Given the description of an element on the screen output the (x, y) to click on. 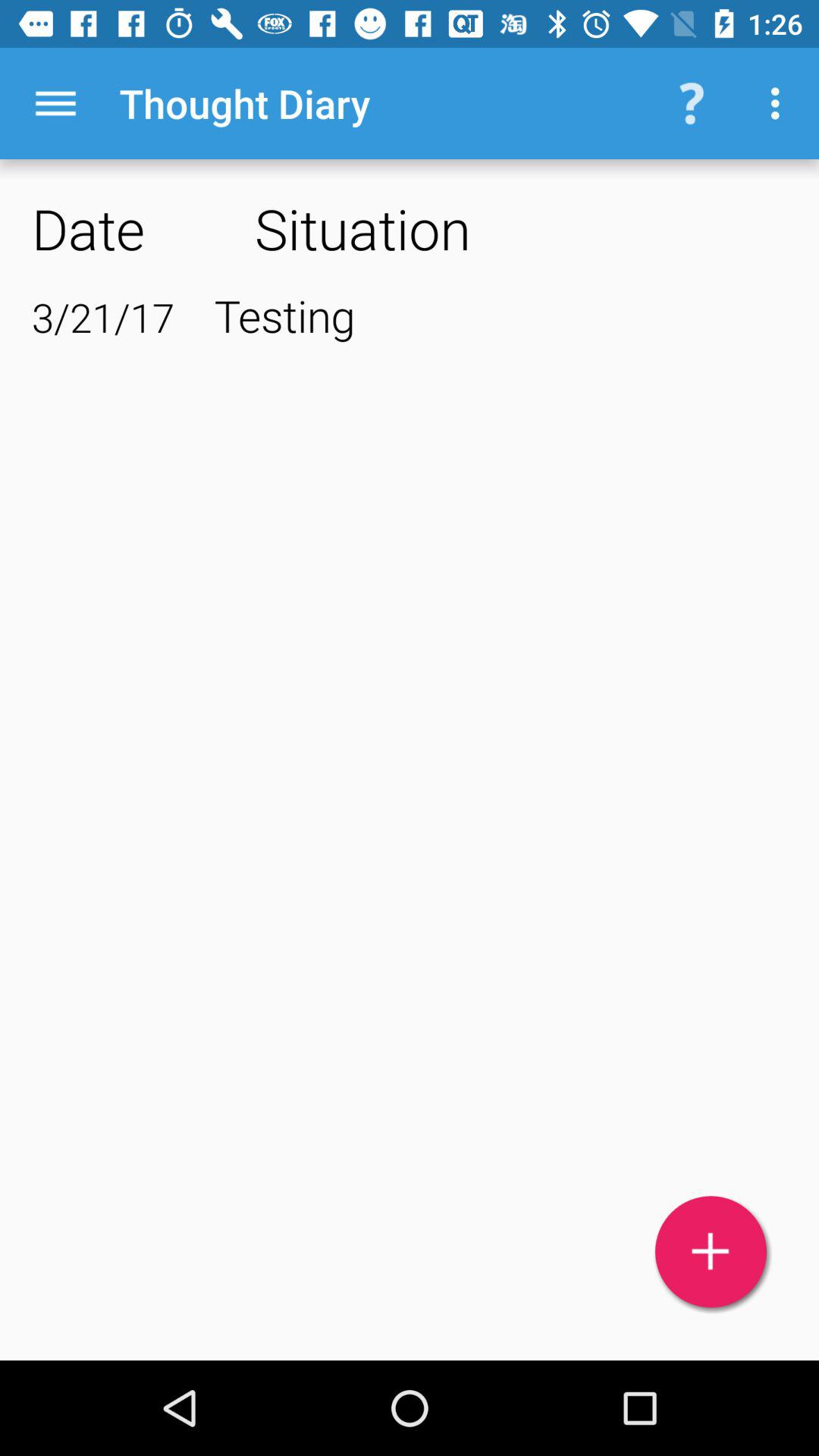
launch the item at the bottom right corner (710, 1251)
